Given the description of an element on the screen output the (x, y) to click on. 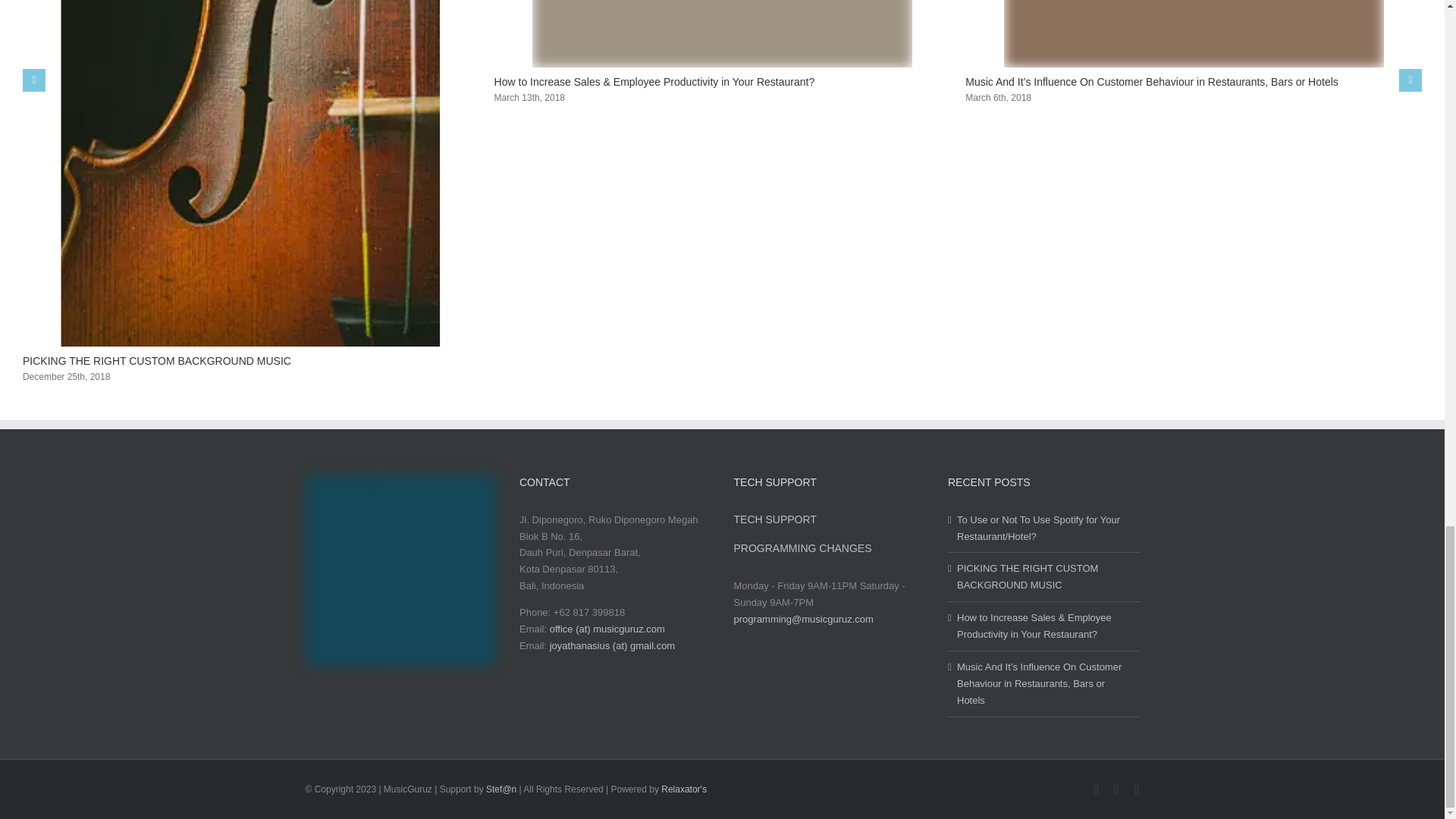
PICKING THE RIGHT CUSTOM BACKGROUND MUSIC (157, 360)
PICKING THE RIGHT CUSTOM BACKGROUND MUSIC (157, 360)
